Given the description of an element on the screen output the (x, y) to click on. 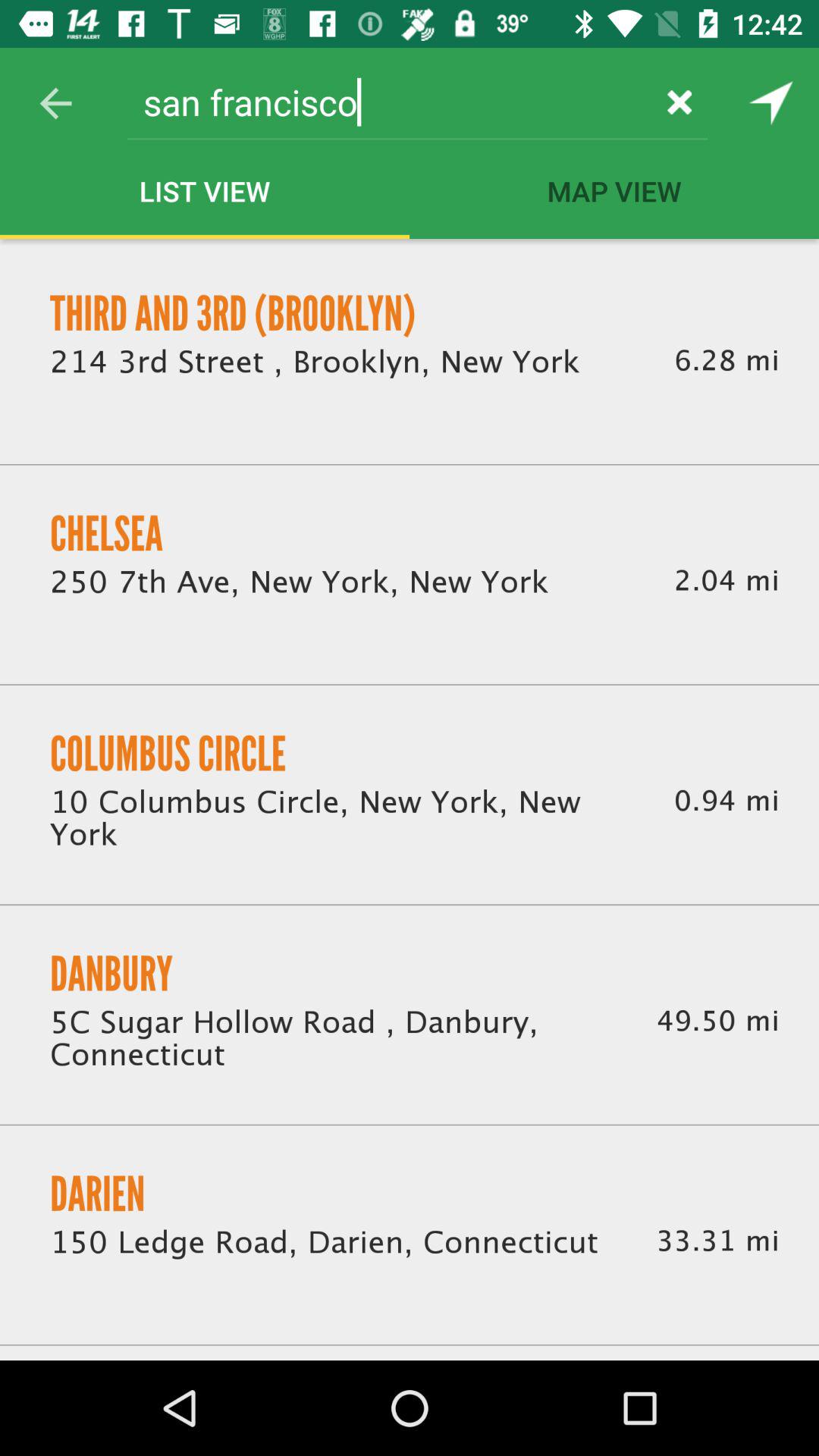
open the item above 2.04 mi icon (726, 360)
